Given the description of an element on the screen output the (x, y) to click on. 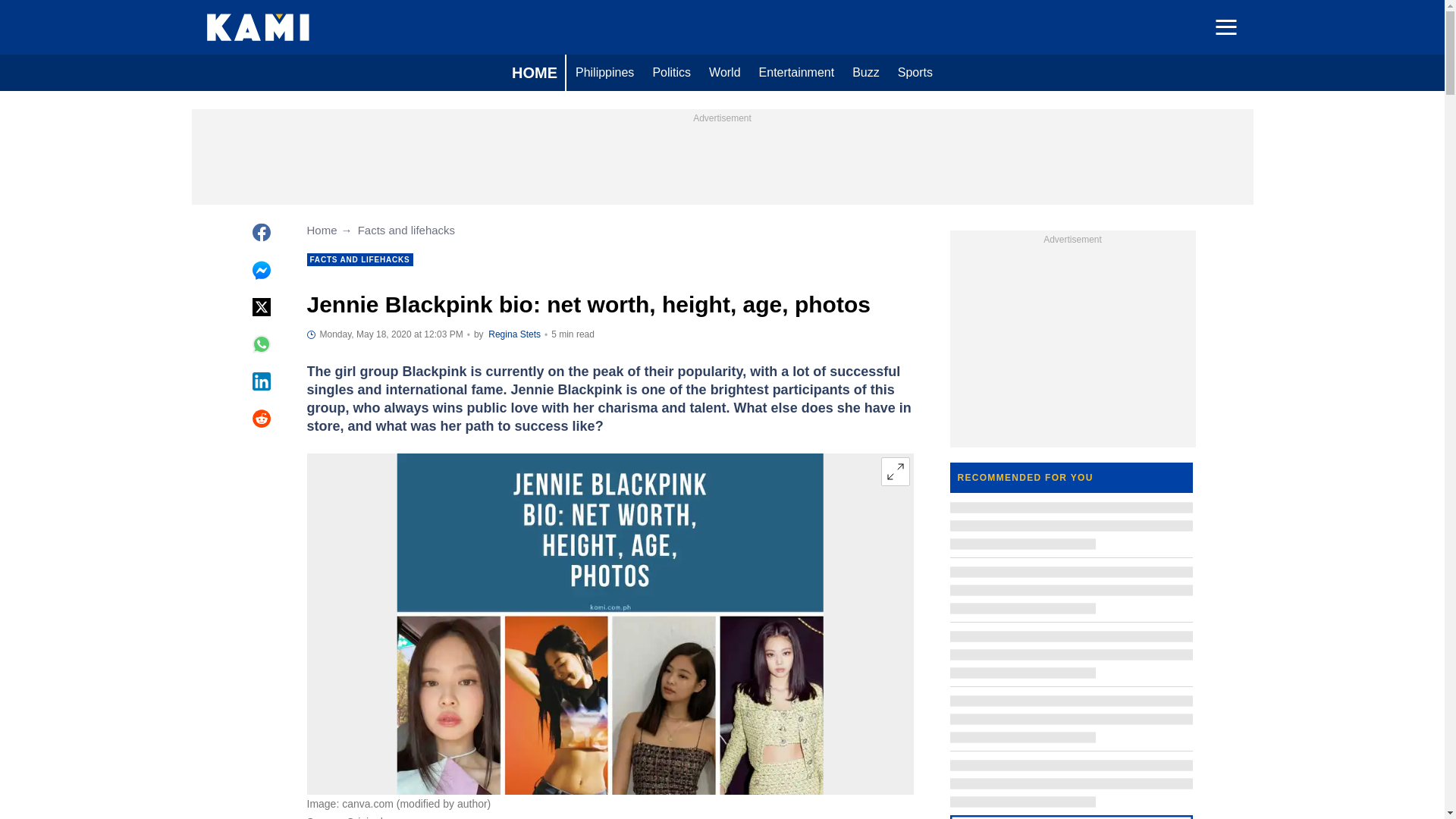
Author page (513, 334)
Politics (671, 72)
Sports (915, 72)
World (724, 72)
HOME (534, 72)
Expand image (895, 471)
Entertainment (796, 72)
Philippines (604, 72)
Buzz (865, 72)
